Given the description of an element on the screen output the (x, y) to click on. 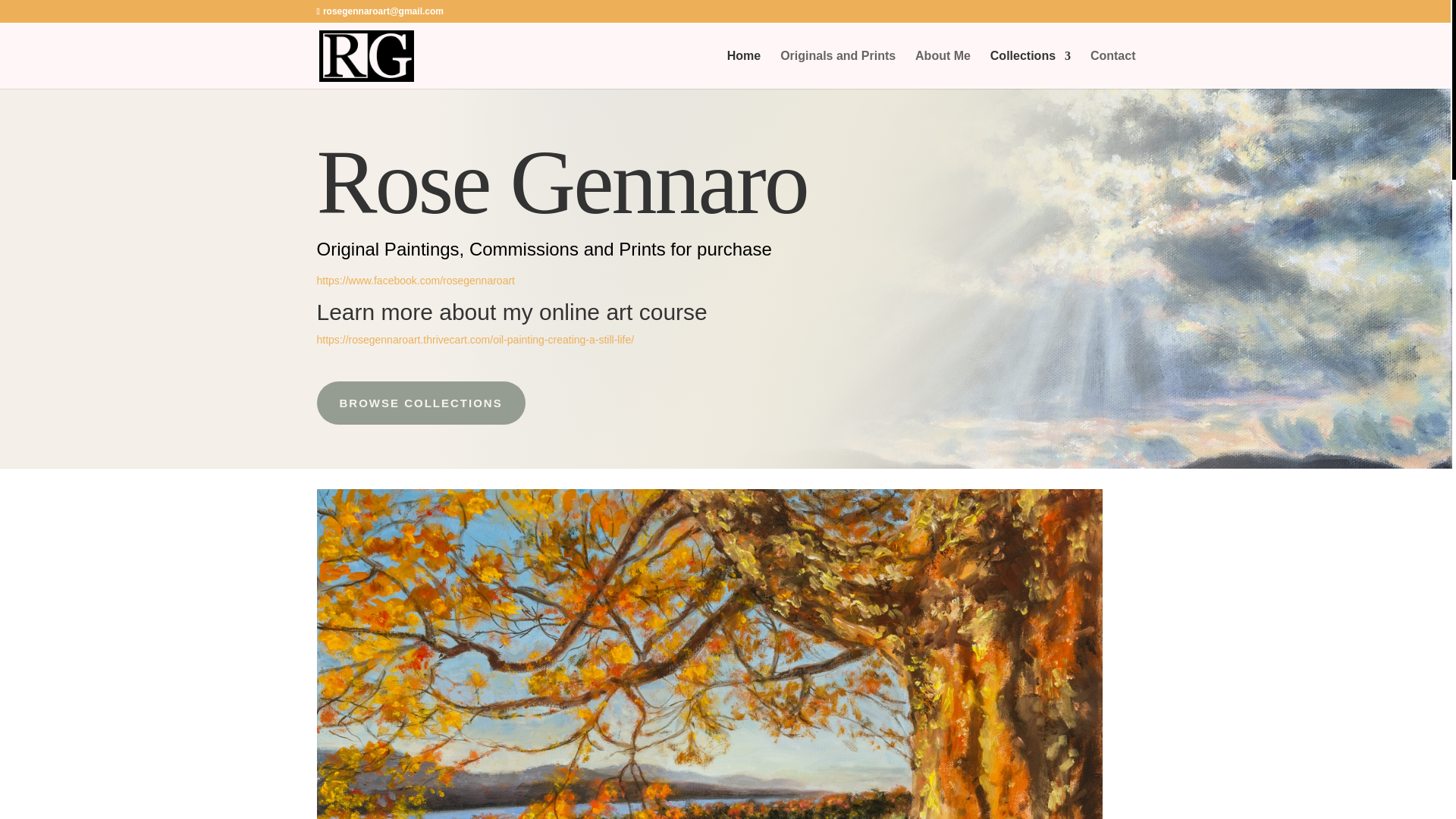
Originals and Prints (837, 69)
Collections (1030, 69)
Contact (1112, 69)
About Me (943, 69)
